Given the description of an element on the screen output the (x, y) to click on. 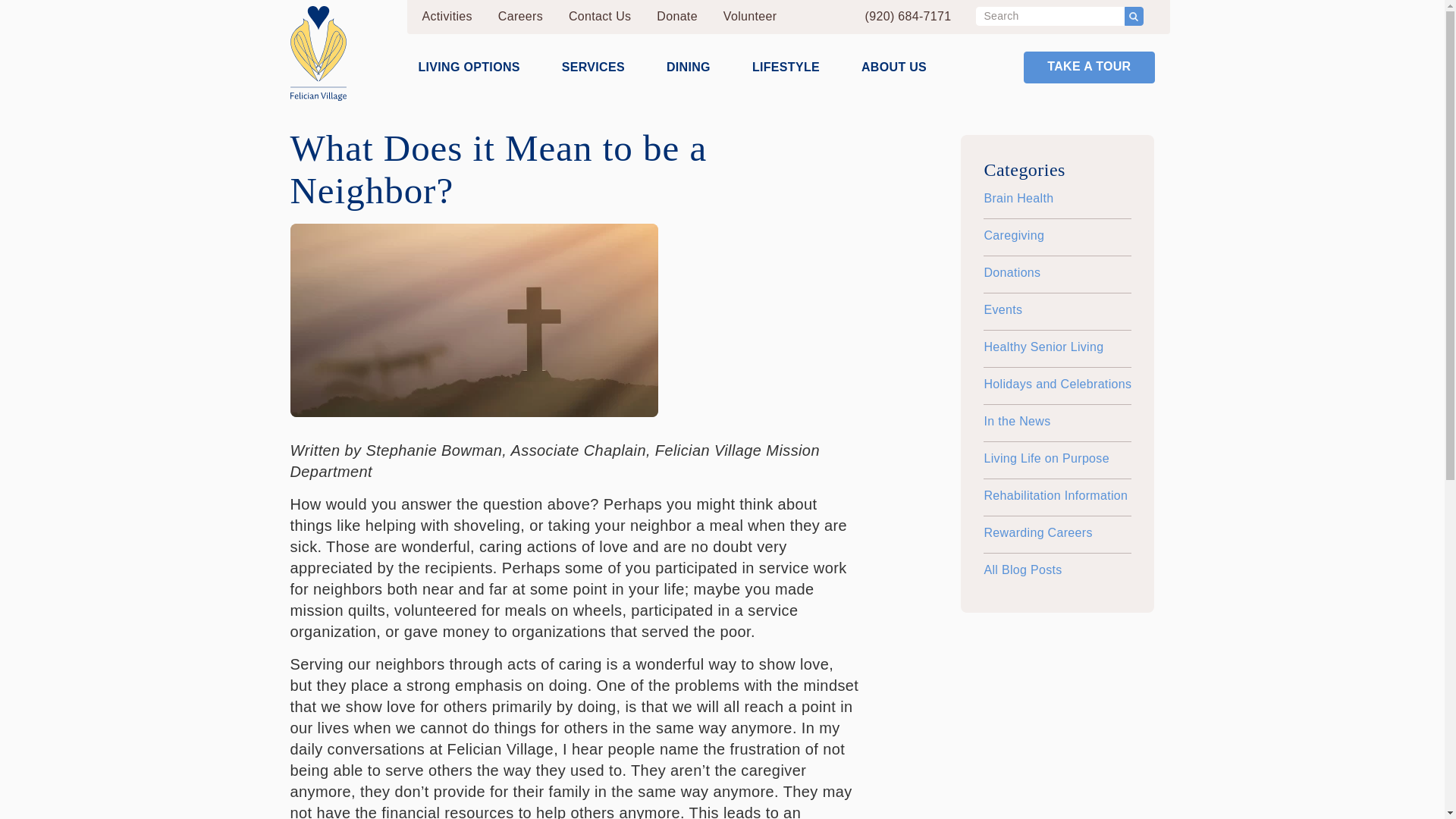
SERVICES (593, 66)
SUBMIT (1133, 15)
Volunteer (750, 17)
Careers (520, 17)
LIVING OPTIONS (469, 66)
Donate (676, 17)
DINING (688, 66)
LIFESTYLE (785, 66)
Activities (446, 17)
Contact Us (599, 17)
